Given the description of an element on the screen output the (x, y) to click on. 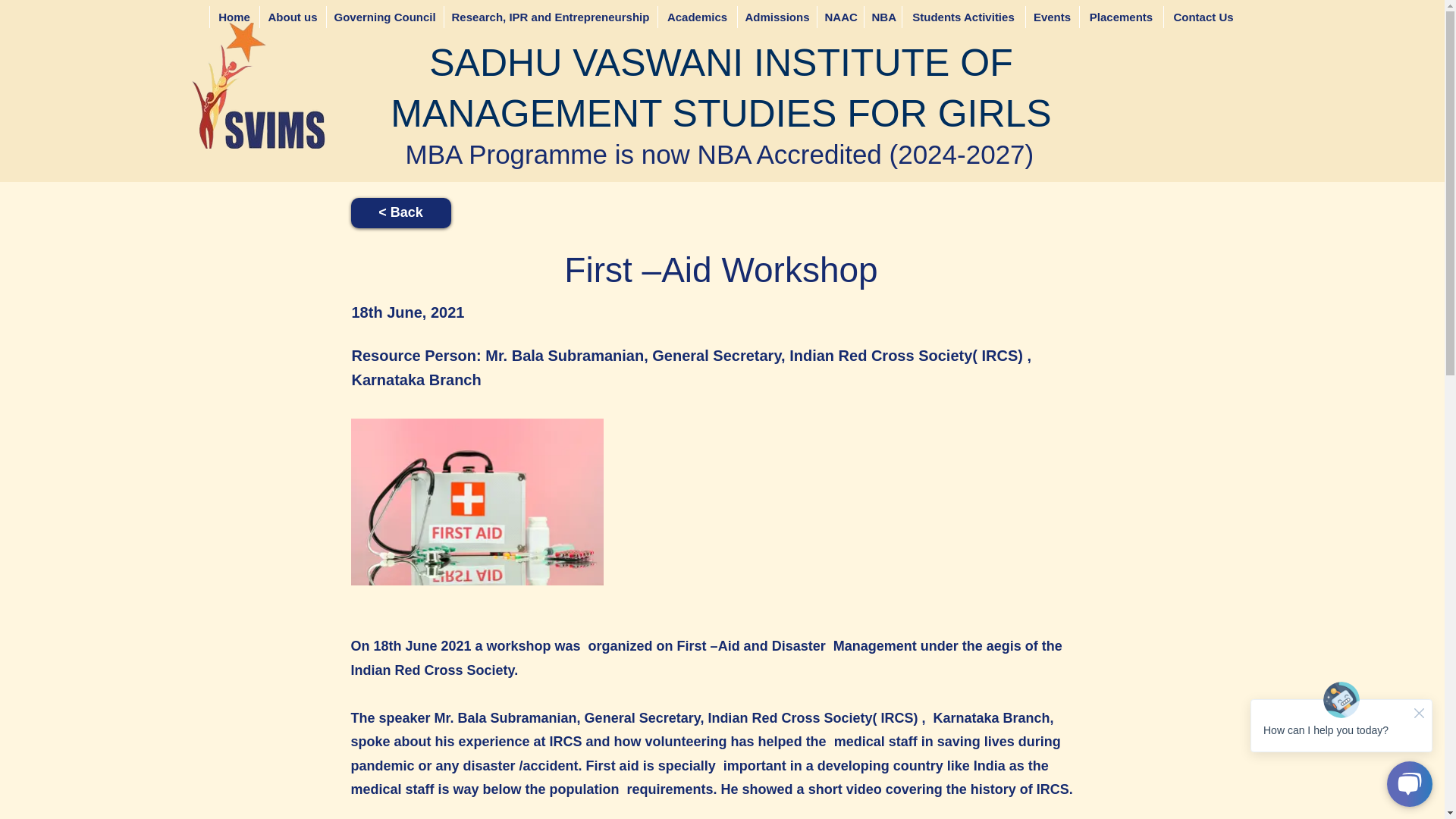
NBA (882, 16)
Governing Council (385, 16)
Academics (696, 16)
Admissions (776, 16)
NAAC (839, 16)
Home (234, 16)
